Given the description of an element on the screen output the (x, y) to click on. 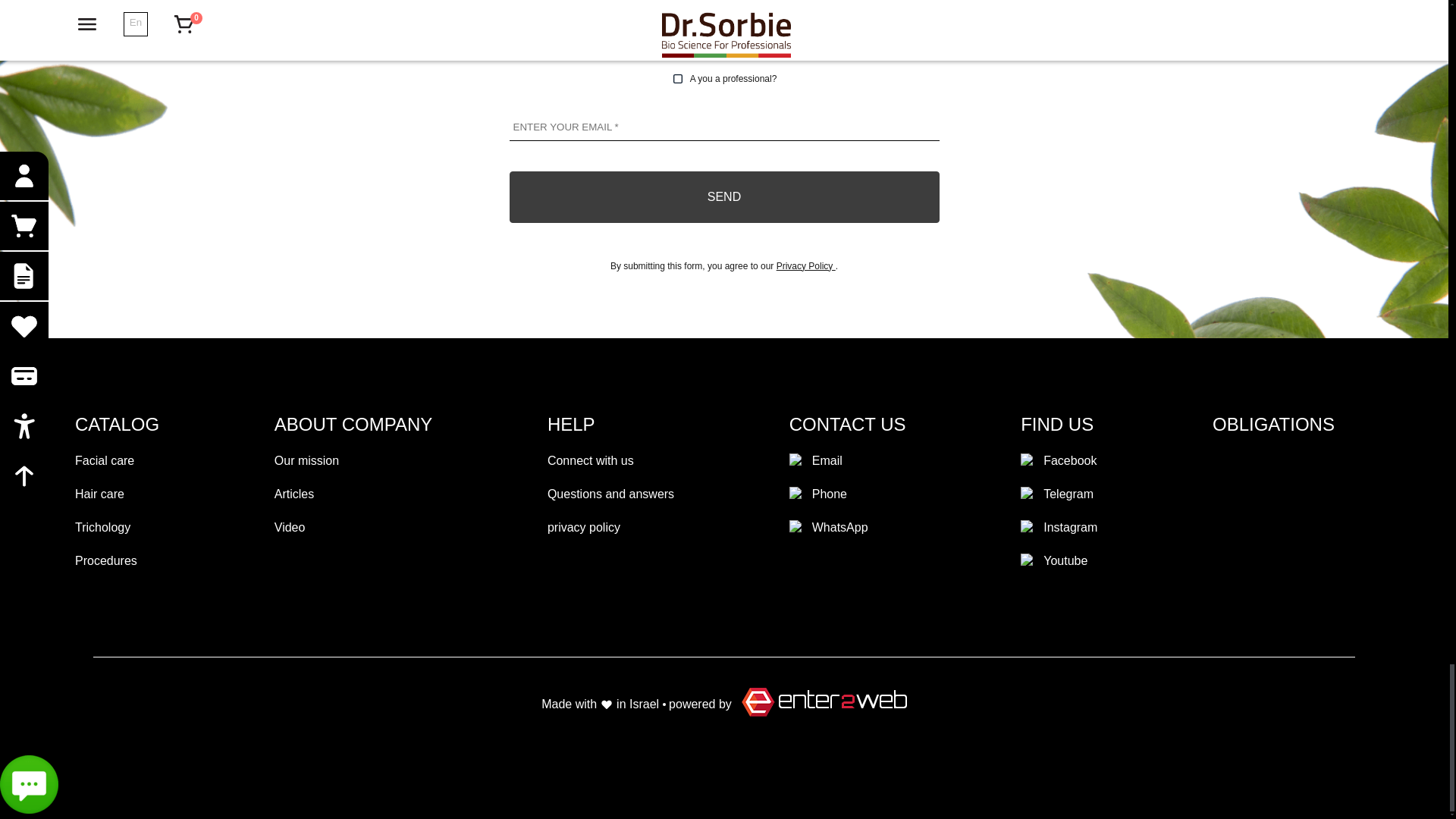
SEND (724, 196)
Hair care (116, 494)
SEND (724, 196)
Privacy Policy (805, 266)
Facial care (116, 460)
Enter your email (724, 126)
